Given the description of an element on the screen output the (x, y) to click on. 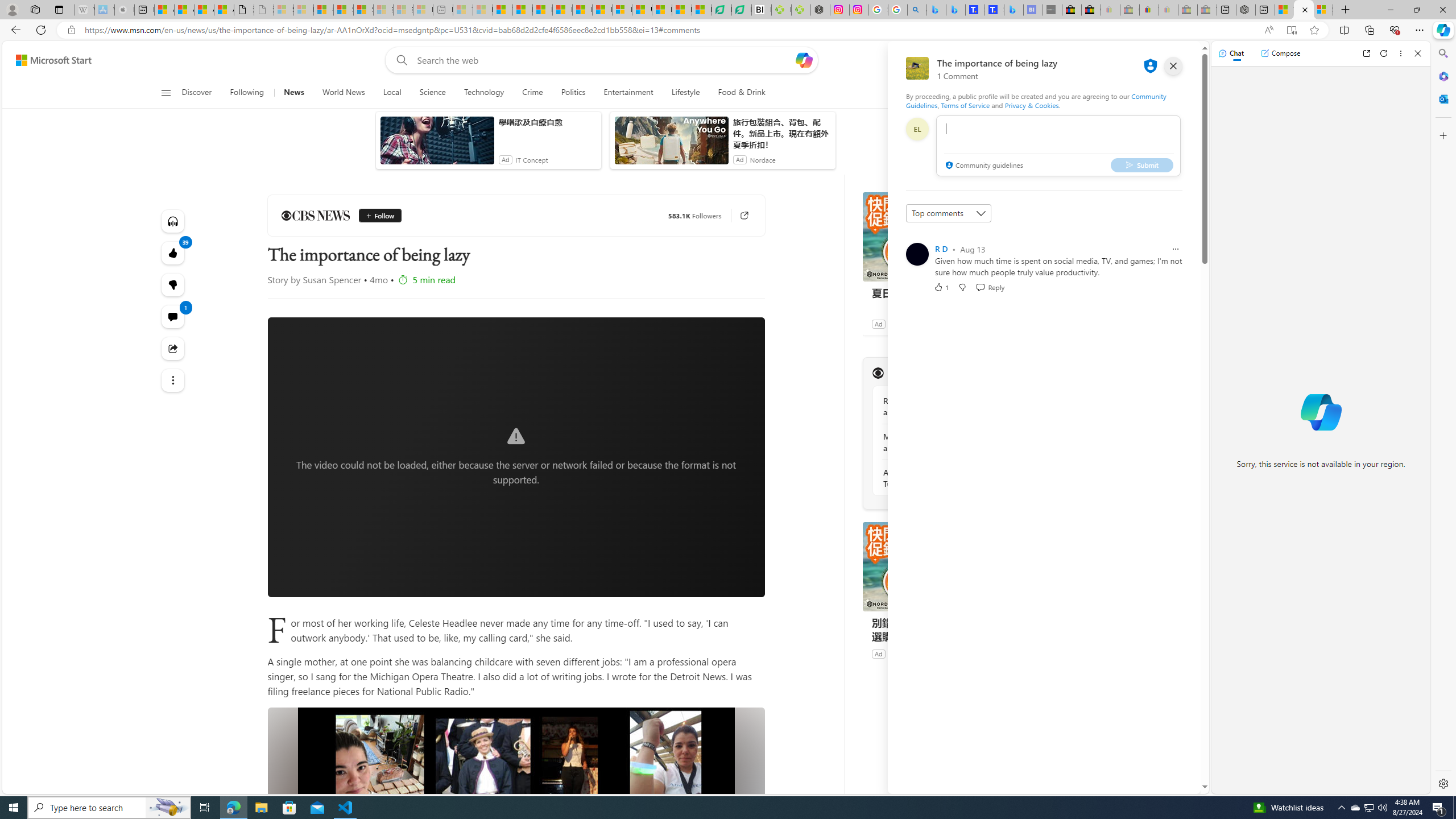
Microsoft Services Agreement - Sleeping (303, 9)
Compose (1280, 52)
Press Room - eBay Inc. - Sleeping (1187, 9)
